Given the description of an element on the screen output the (x, y) to click on. 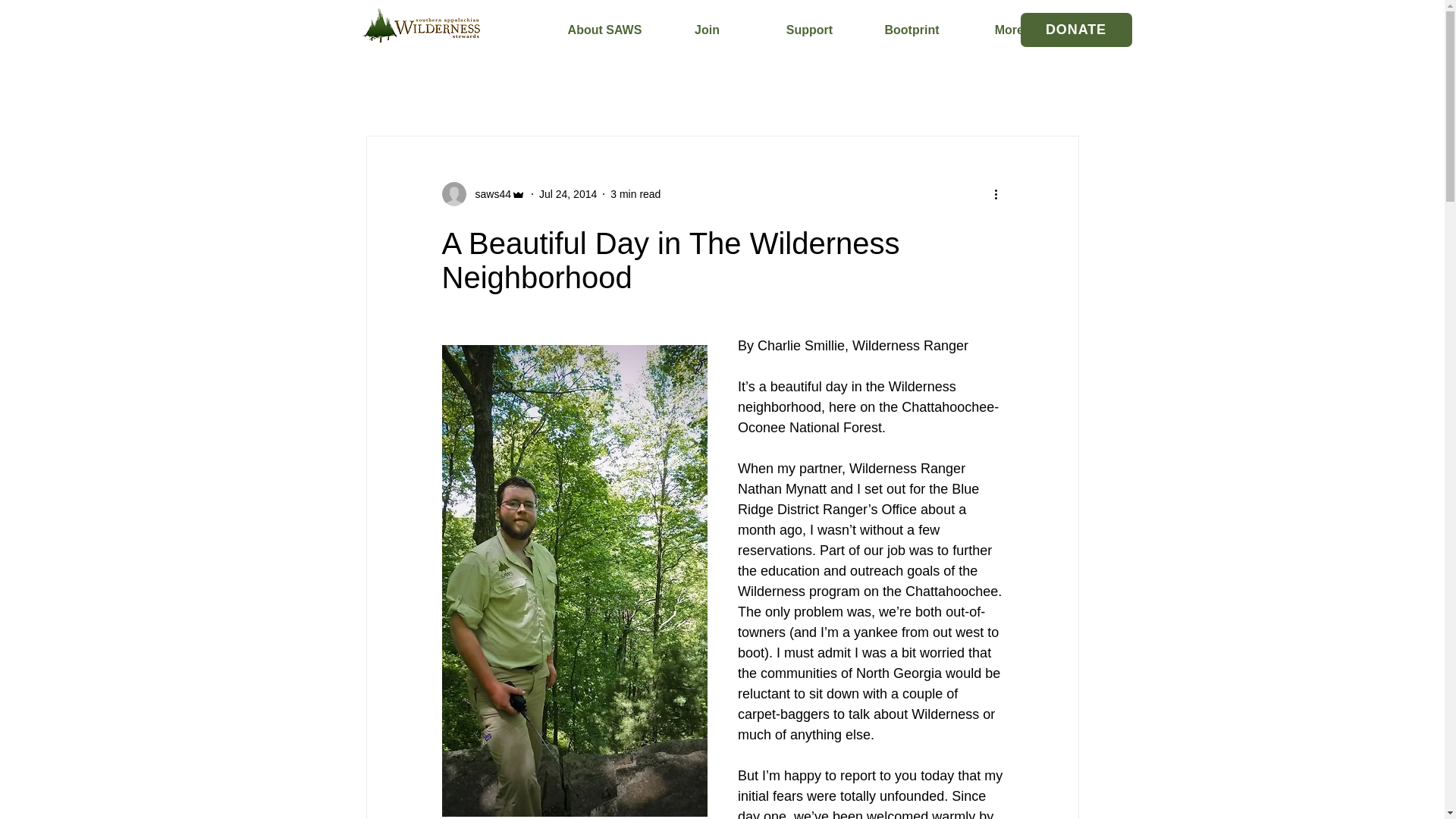
Jul 24, 2014 (567, 193)
saws44 (488, 194)
Bootprint (911, 29)
About SAWS (604, 29)
Support (809, 29)
3 min read (635, 193)
DONATE (1076, 29)
saws44 (482, 193)
Join (707, 29)
